Given the description of an element on the screen output the (x, y) to click on. 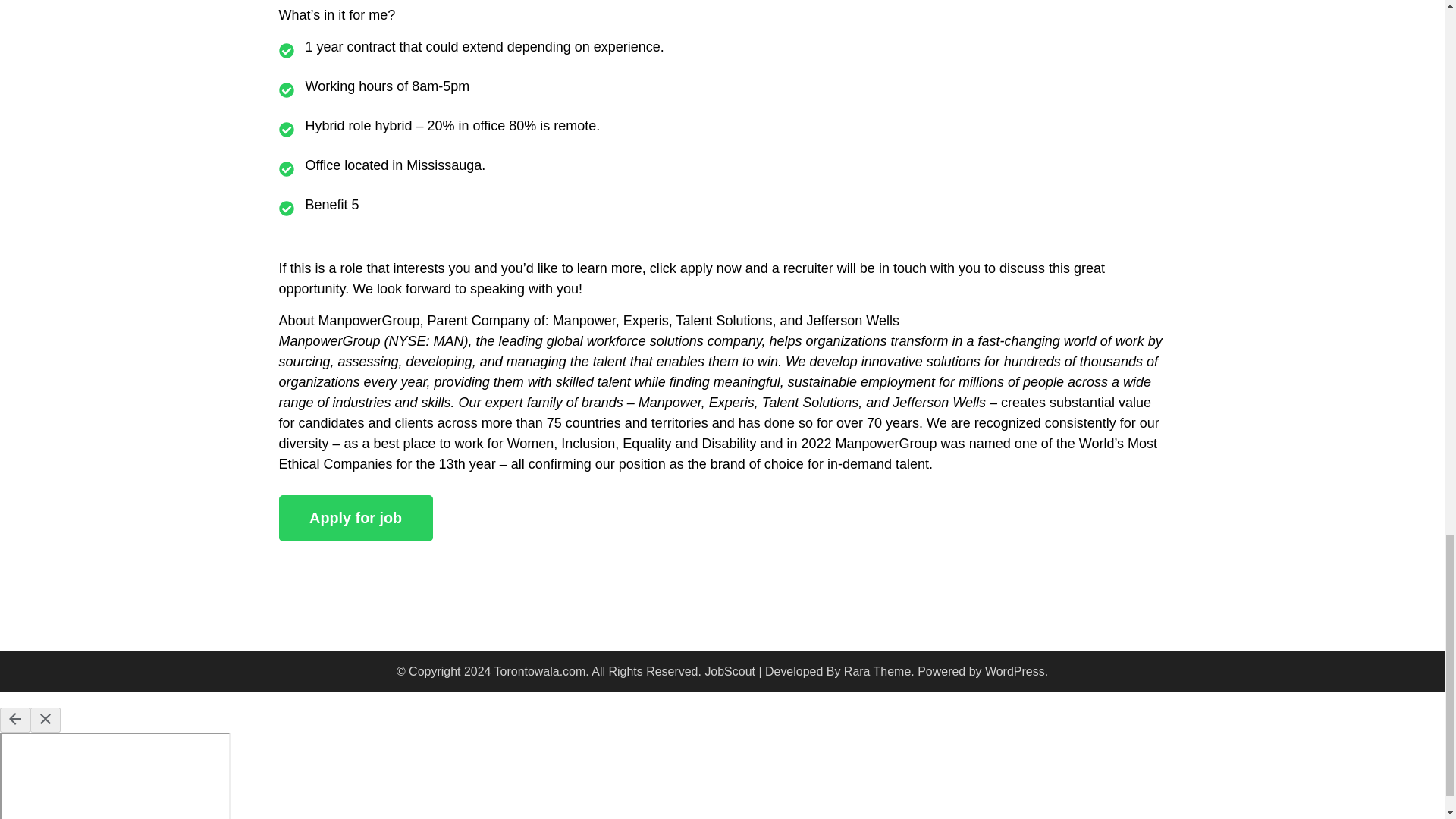
Torontowala.com (540, 671)
Rara Theme (877, 671)
WordPress (1015, 671)
Apply for job (355, 518)
